Given the description of an element on the screen output the (x, y) to click on. 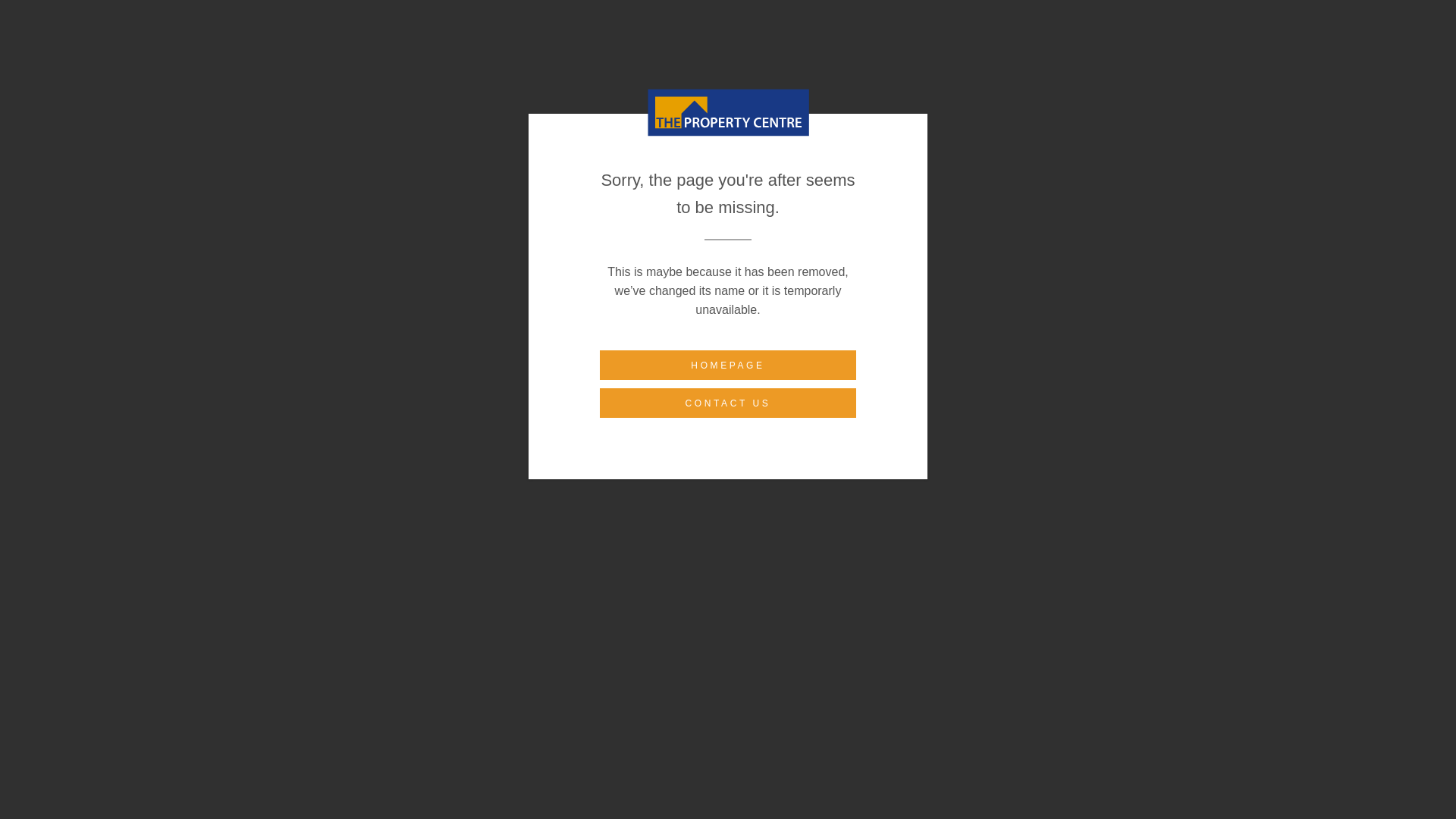
CONTACT US (727, 402)
HOMEPAGE (727, 365)
